Given the description of an element on the screen output the (x, y) to click on. 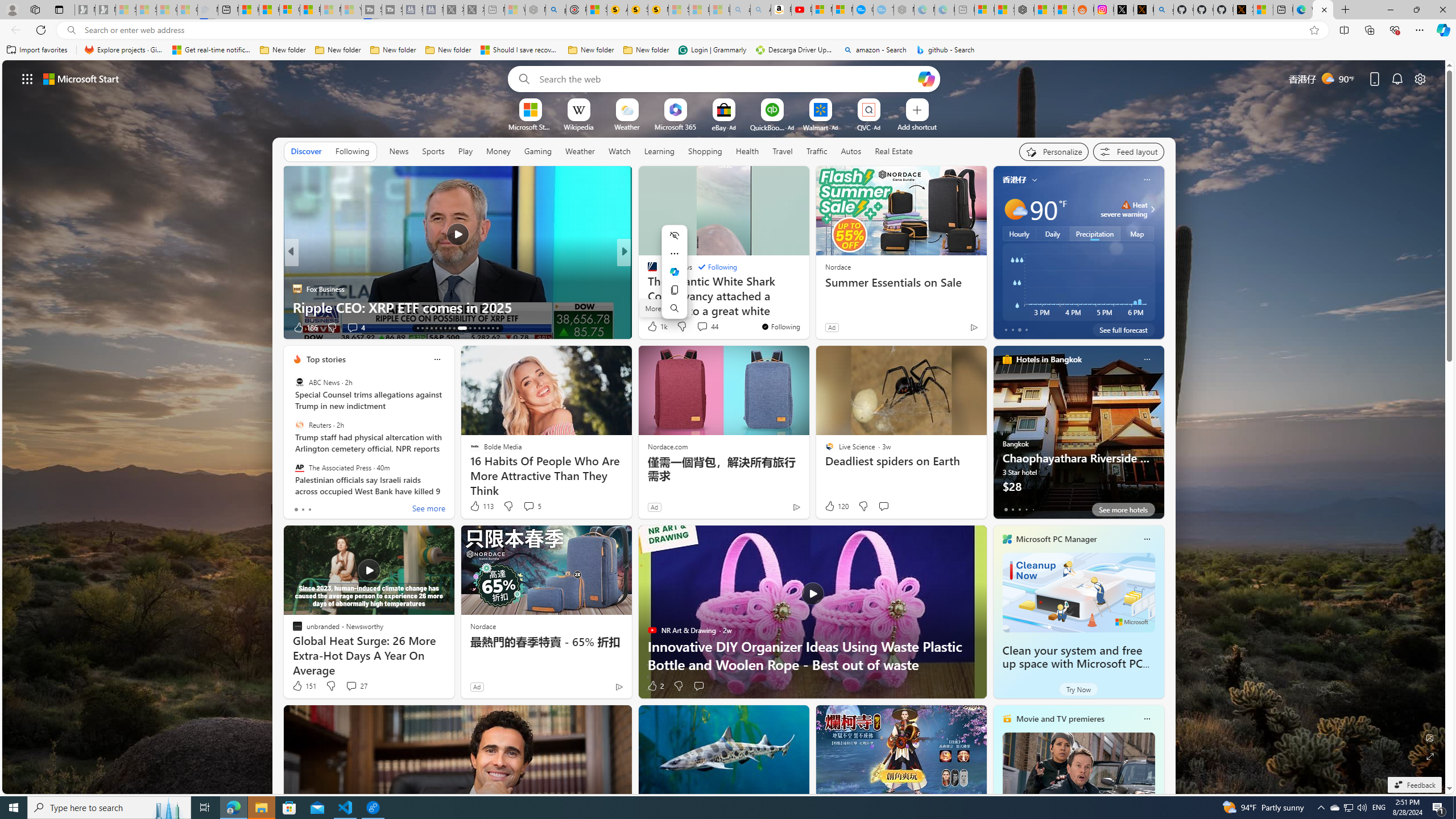
39 Like (652, 327)
Following (352, 151)
Nordace - Nordace has arrived Hong Kong - Sleeping (903, 9)
Expand background (1430, 756)
Mostly sunny (1014, 208)
Sports (432, 151)
Start the conversation (698, 685)
Daily (1052, 233)
View comments 5 Comment (532, 505)
AutomationID: tab-21 (454, 328)
Sports (432, 151)
